Given the description of an element on the screen output the (x, y) to click on. 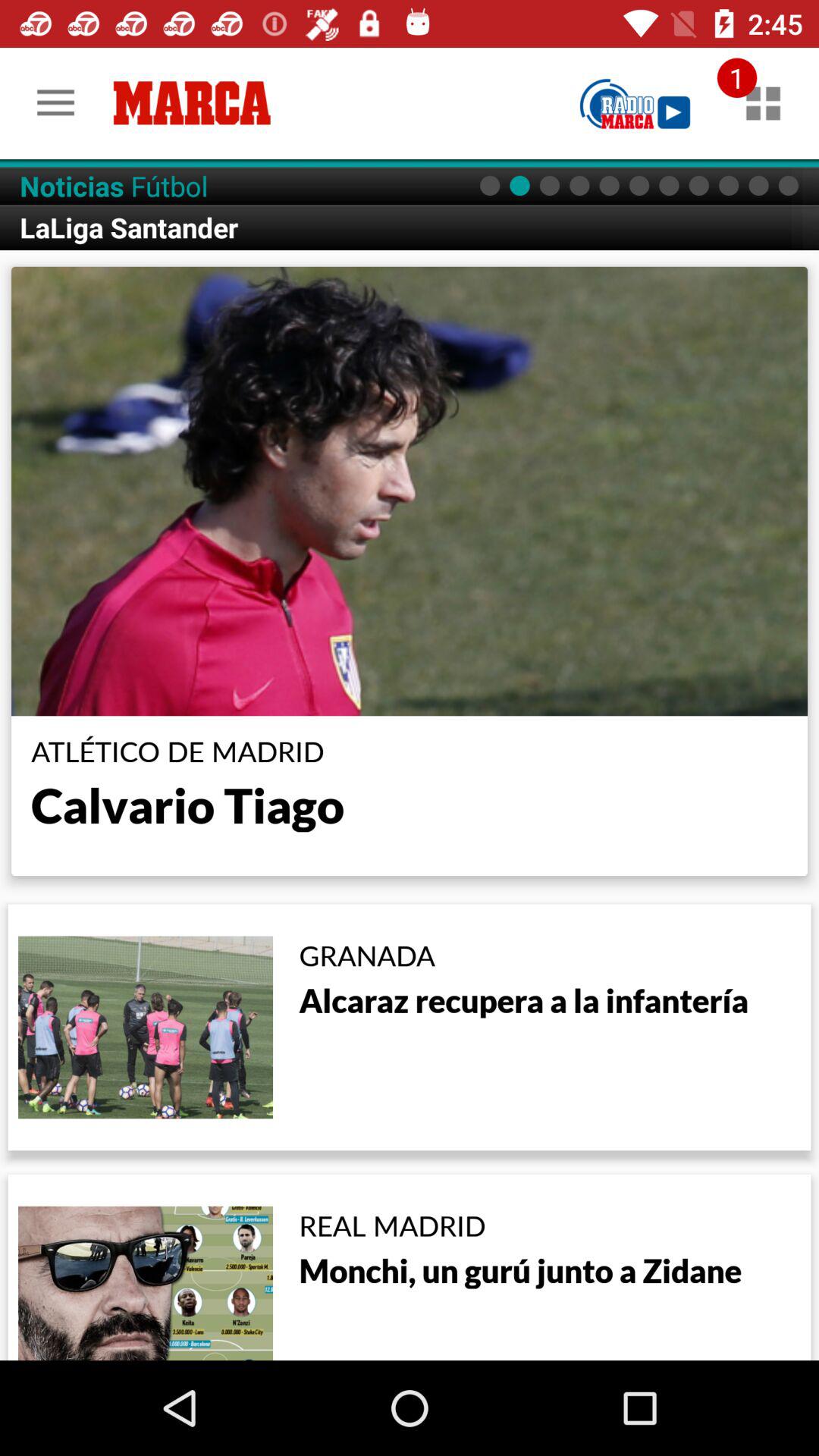
more options (763, 103)
